Given the description of an element on the screen output the (x, y) to click on. 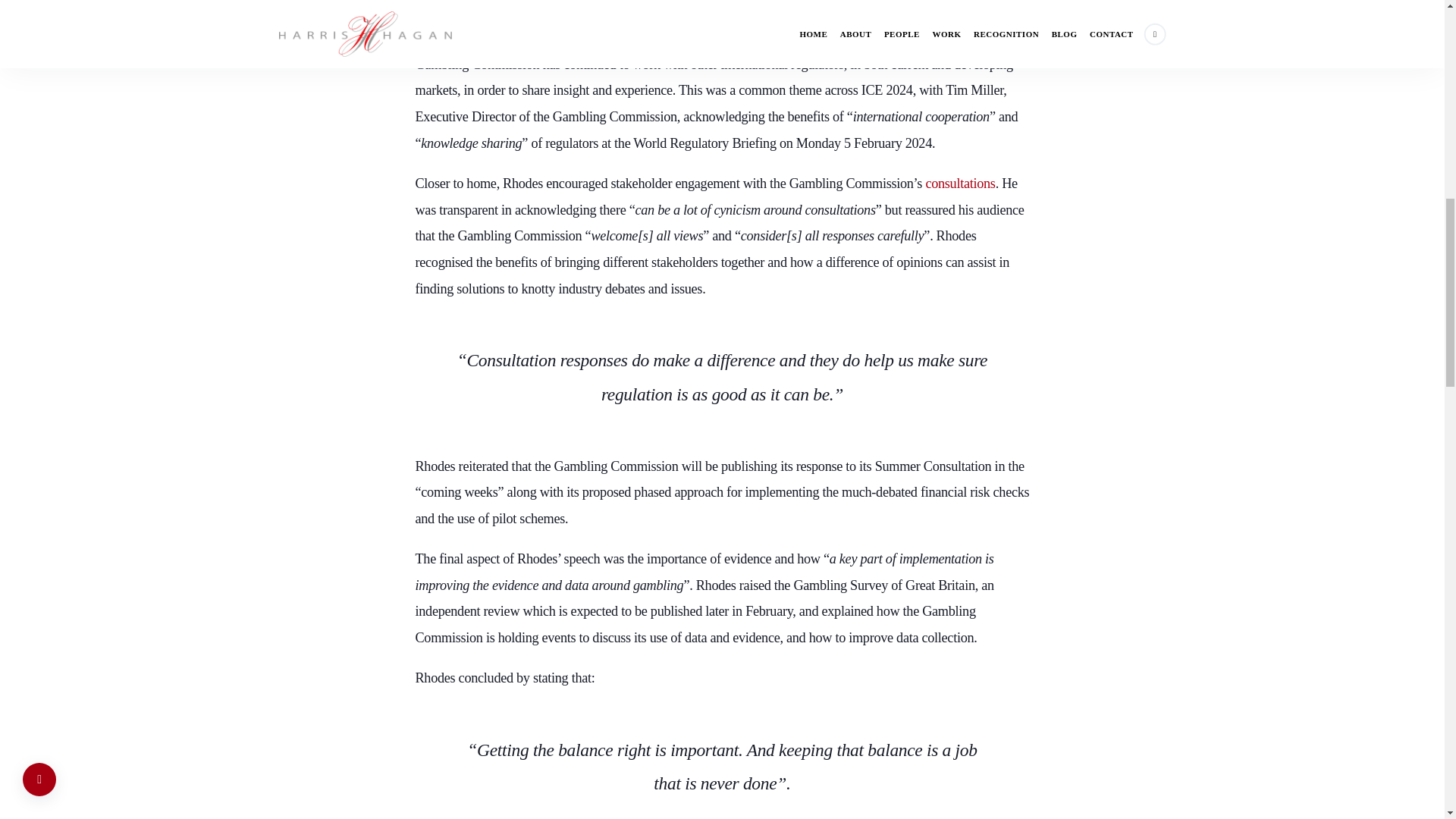
consultations (959, 183)
